Given the description of an element on the screen output the (x, y) to click on. 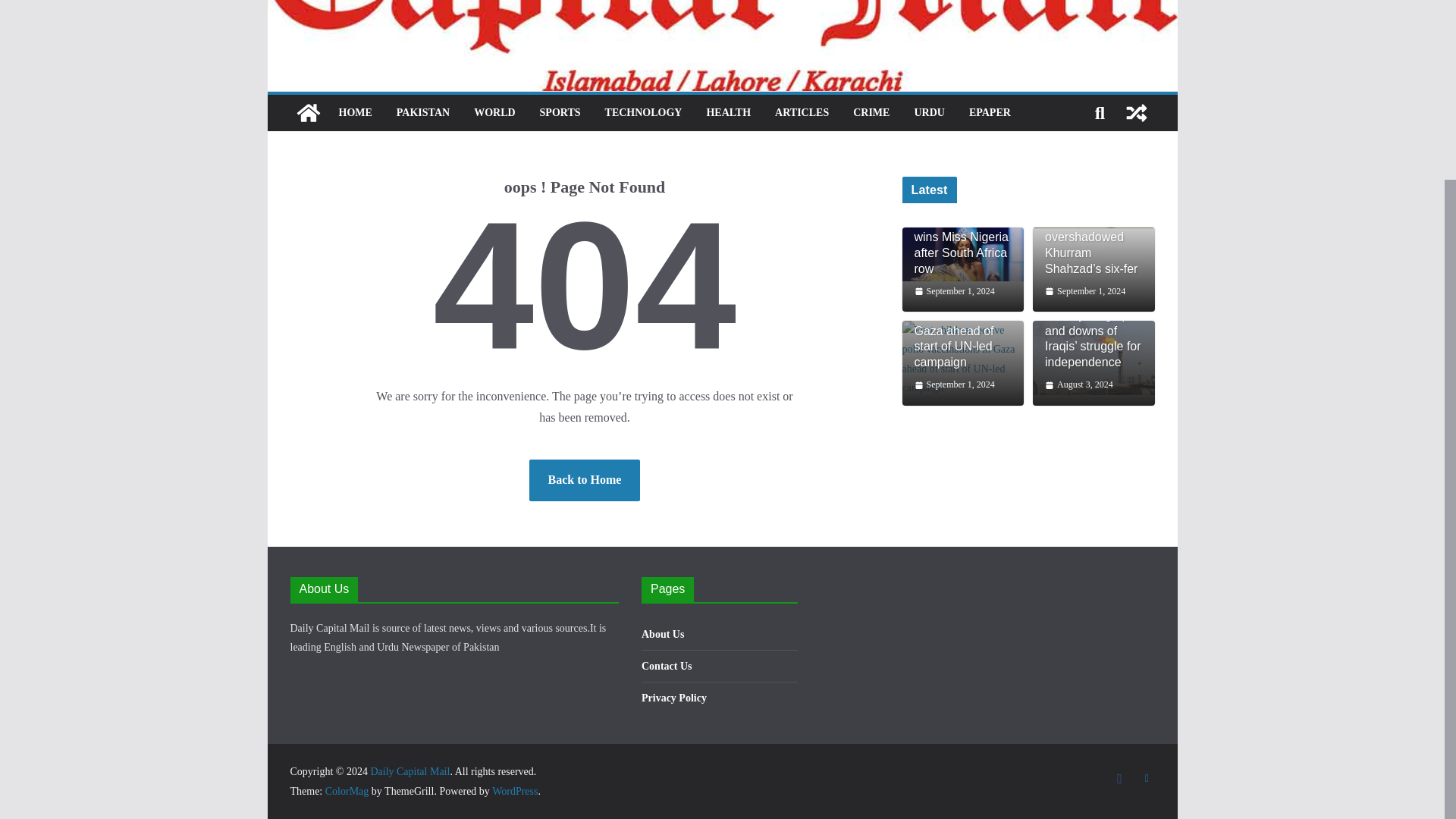
ARTICLES (801, 112)
URDU (928, 112)
HOME (354, 112)
WORLD (494, 112)
HEALTH (728, 112)
2:11 pm (954, 291)
Back to Home (584, 480)
CRIME (871, 112)
EPAPER (989, 112)
Daily Capital Mail (307, 113)
